Given the description of an element on the screen output the (x, y) to click on. 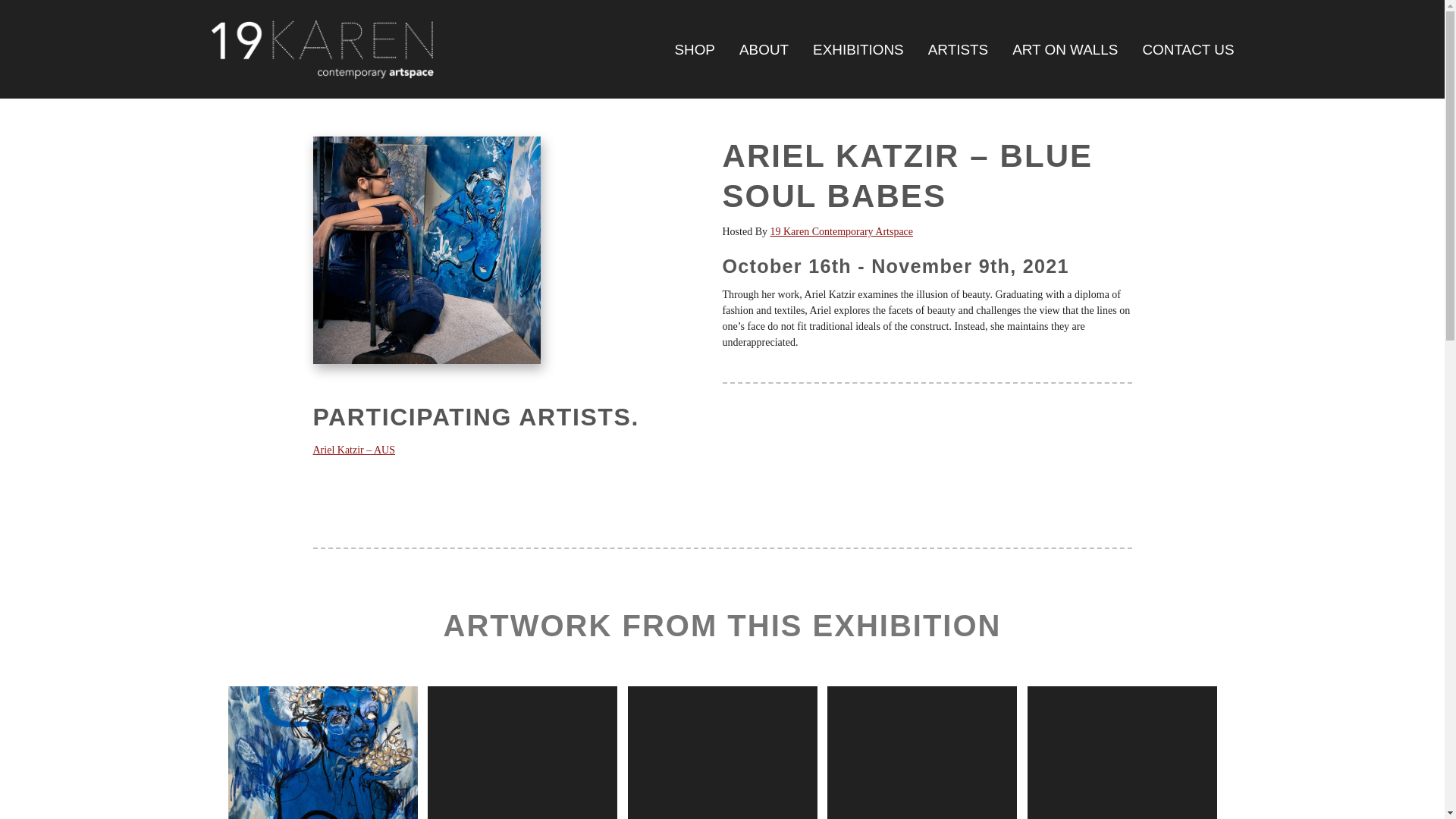
19 Karen Contemporary Artspace (842, 231)
ARTISTS (958, 49)
ART ON WALLS (1064, 49)
SHOP (694, 49)
CONTACT US (1187, 49)
EXHIBITIONS (858, 49)
ABOUT (764, 49)
